Given the description of an element on the screen output the (x, y) to click on. 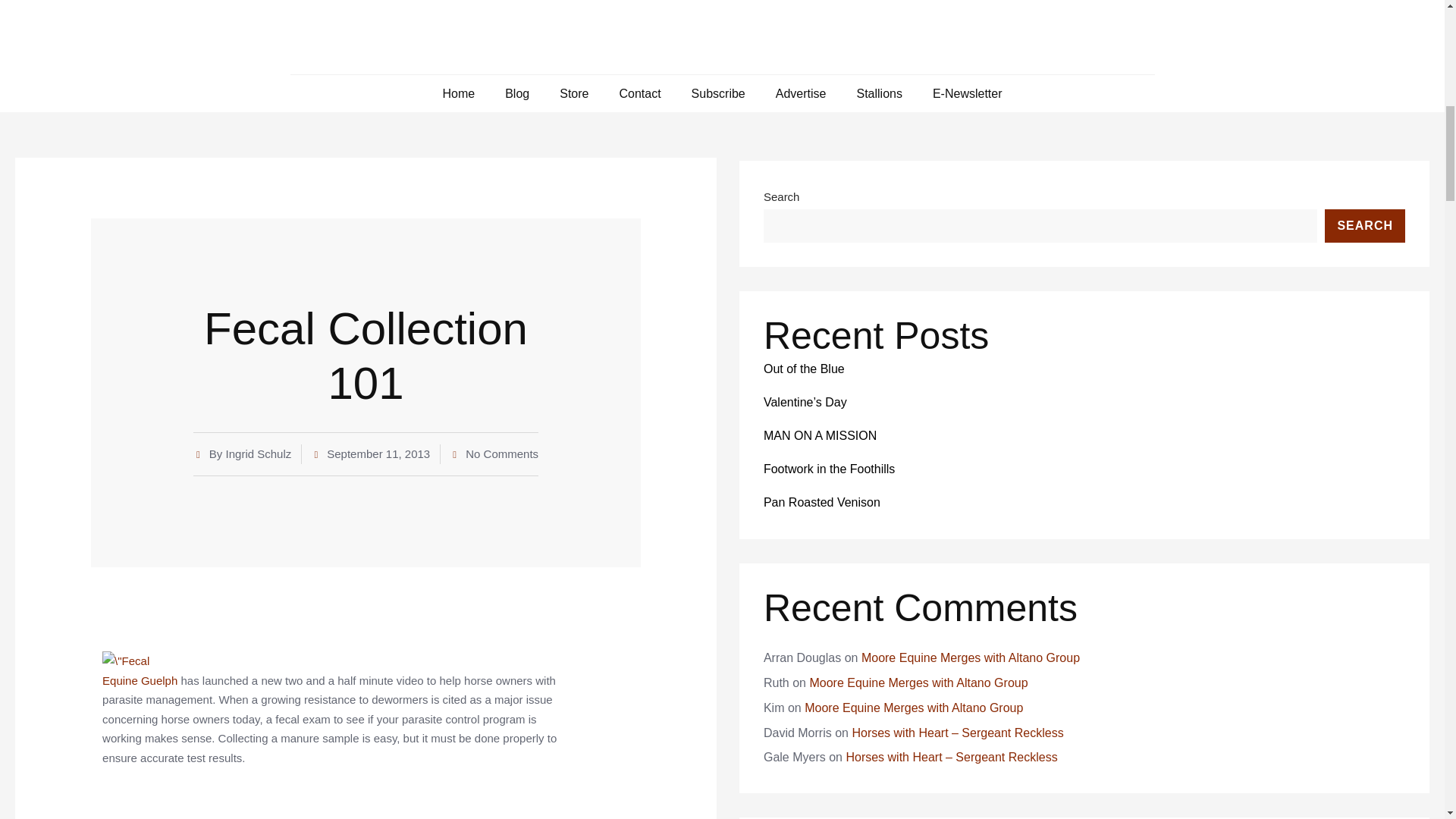
By Ingrid Schulz (242, 454)
Subscribe (718, 93)
Store (573, 93)
Stallions (878, 93)
September 11, 2013 (370, 454)
E-Newsletter (968, 93)
Contact (639, 93)
Home (458, 93)
Advertise (801, 93)
No Comments (493, 454)
